Given the description of an element on the screen output the (x, y) to click on. 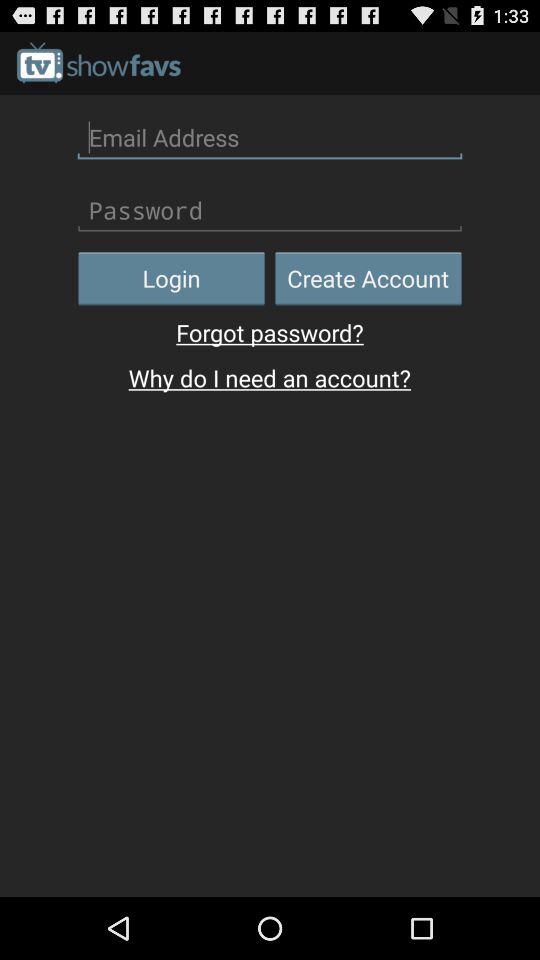
enter your email address (269, 137)
